Given the description of an element on the screen output the (x, y) to click on. 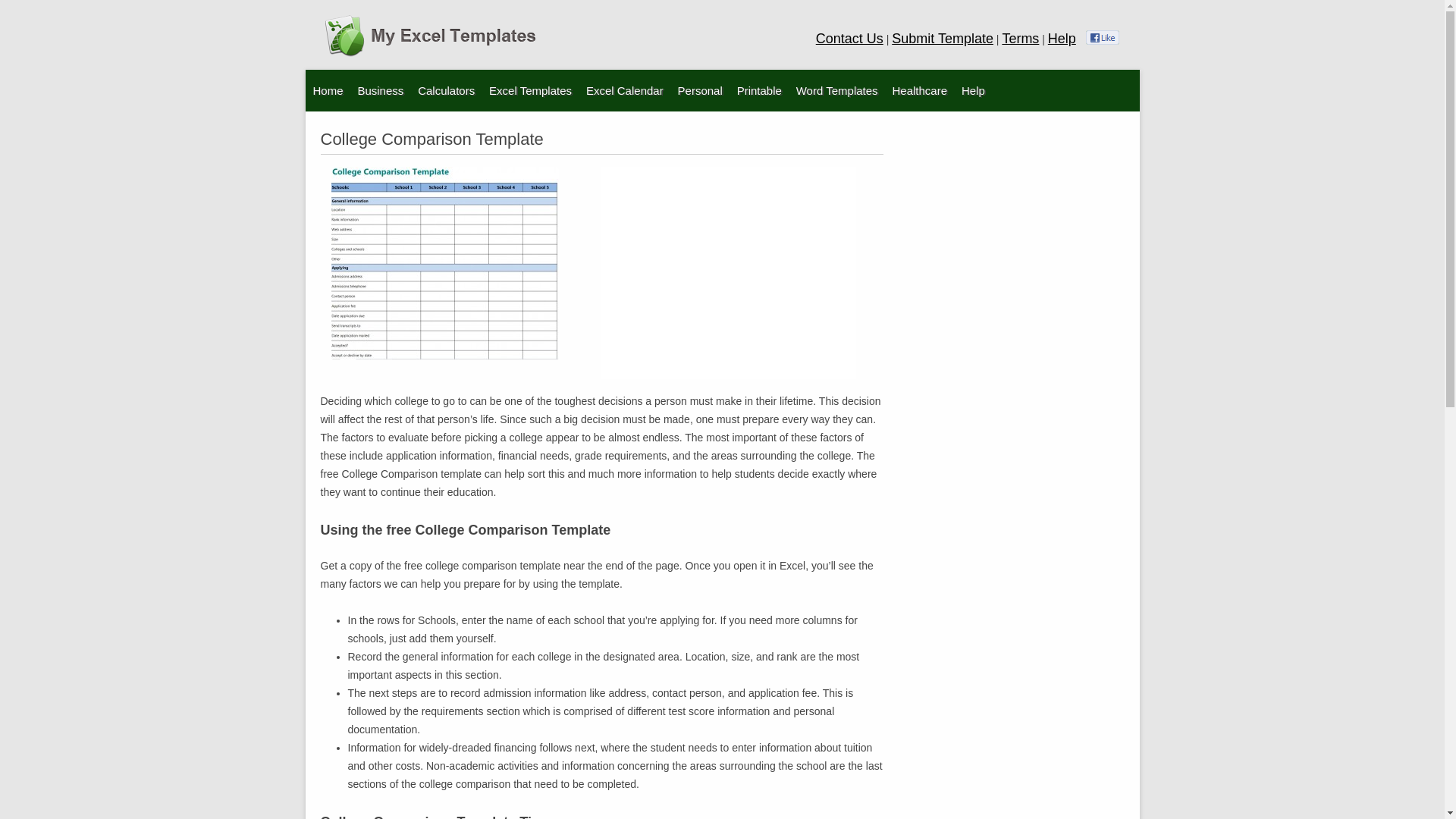
Inventory (432, 126)
Business (379, 90)
Excel Calendar (624, 90)
Terms (1020, 37)
Submit Template (941, 37)
Excel Calendar (564, 126)
Advertisement (728, 273)
Compatible Avery Templates (753, 126)
Contact Us (849, 37)
